Given the description of an element on the screen output the (x, y) to click on. 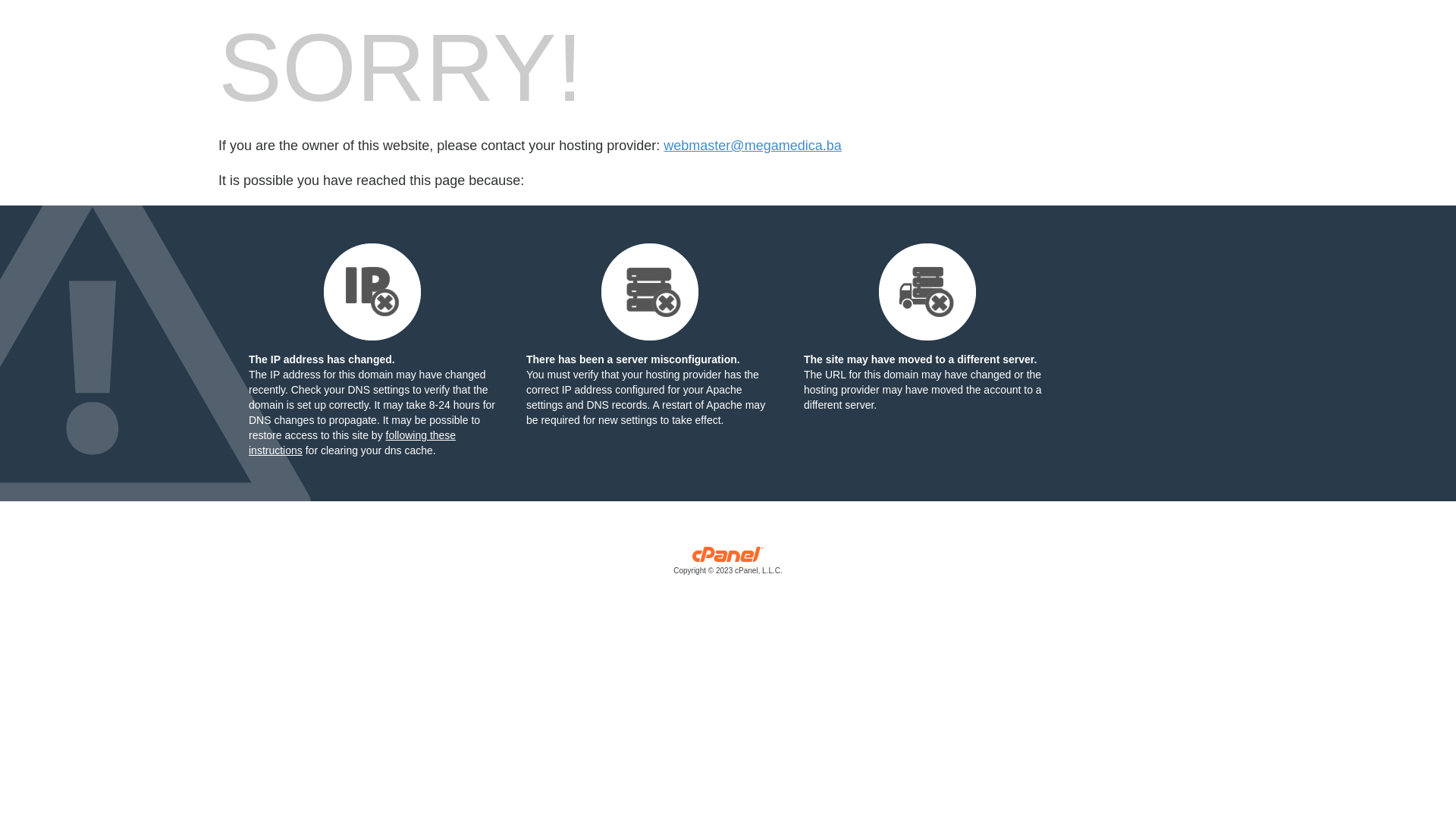
webmaster@megamedica.ba Element type: text (751, 145)
following these instructions Element type: text (351, 442)
